Given the description of an element on the screen output the (x, y) to click on. 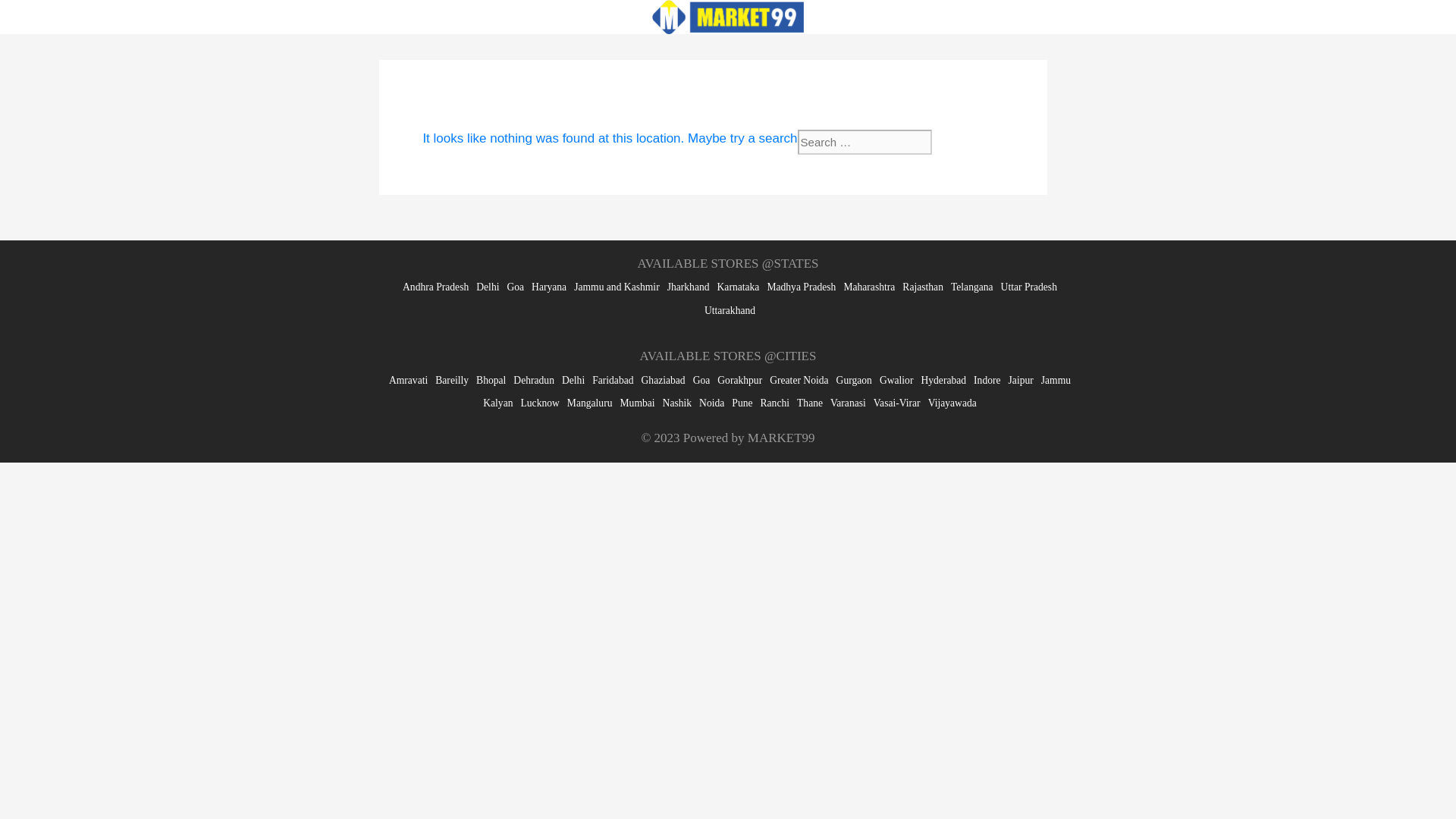
Bhopal (490, 379)
Faridabad (612, 379)
Madhya Pradesh (801, 286)
Rajasthan (922, 286)
Search (961, 141)
Maharashtra (869, 286)
Search (961, 141)
Karnataka (738, 286)
Uttar Pradesh (1029, 286)
Search (961, 141)
Delhi (573, 379)
Andhra Pradesh (435, 286)
Uttarakhand (729, 310)
Telangana (971, 286)
Haryana (548, 286)
